Given the description of an element on the screen output the (x, y) to click on. 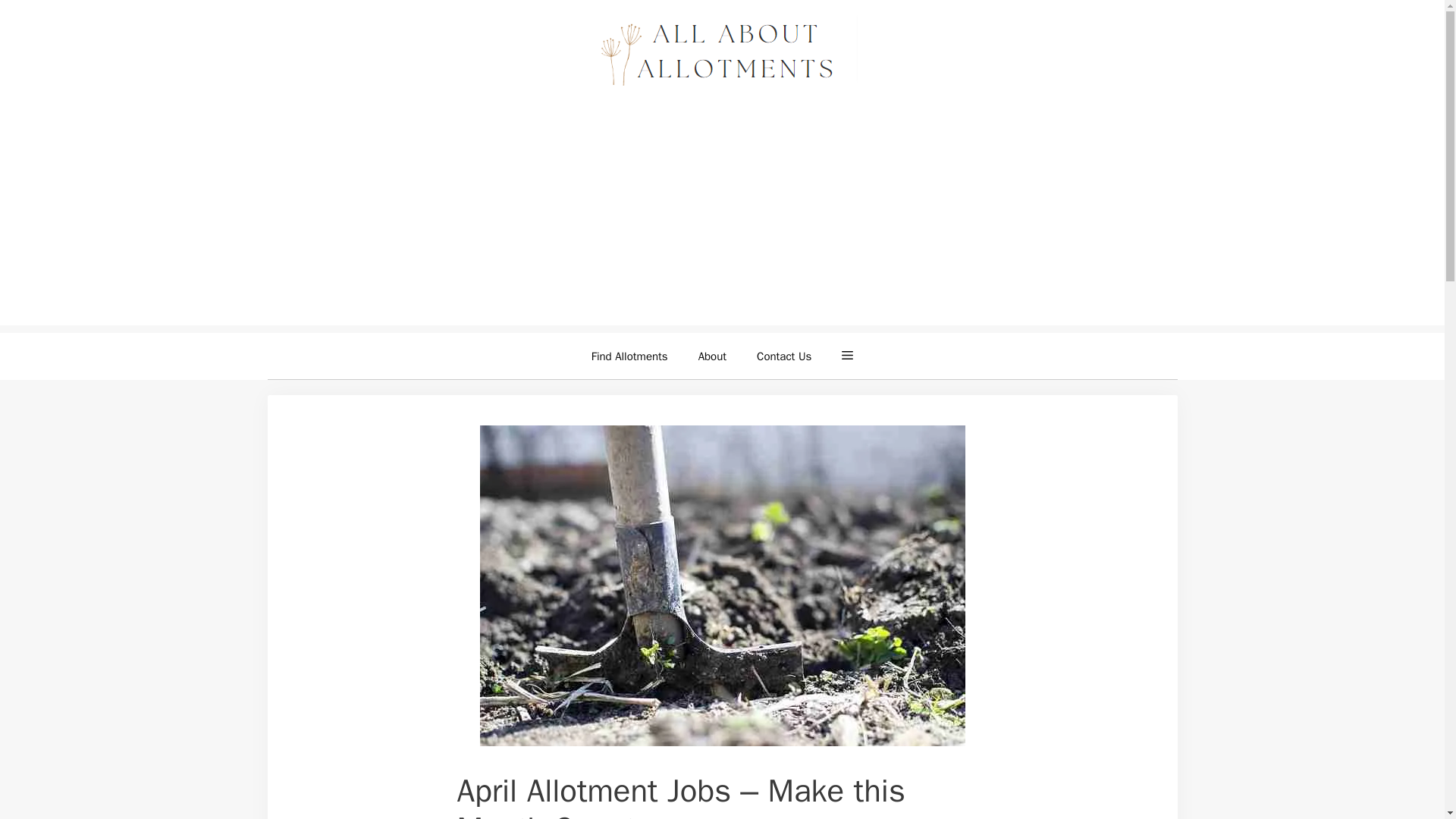
Find Allotments (629, 356)
Contact Us (784, 356)
About (711, 356)
